Given the description of an element on the screen output the (x, y) to click on. 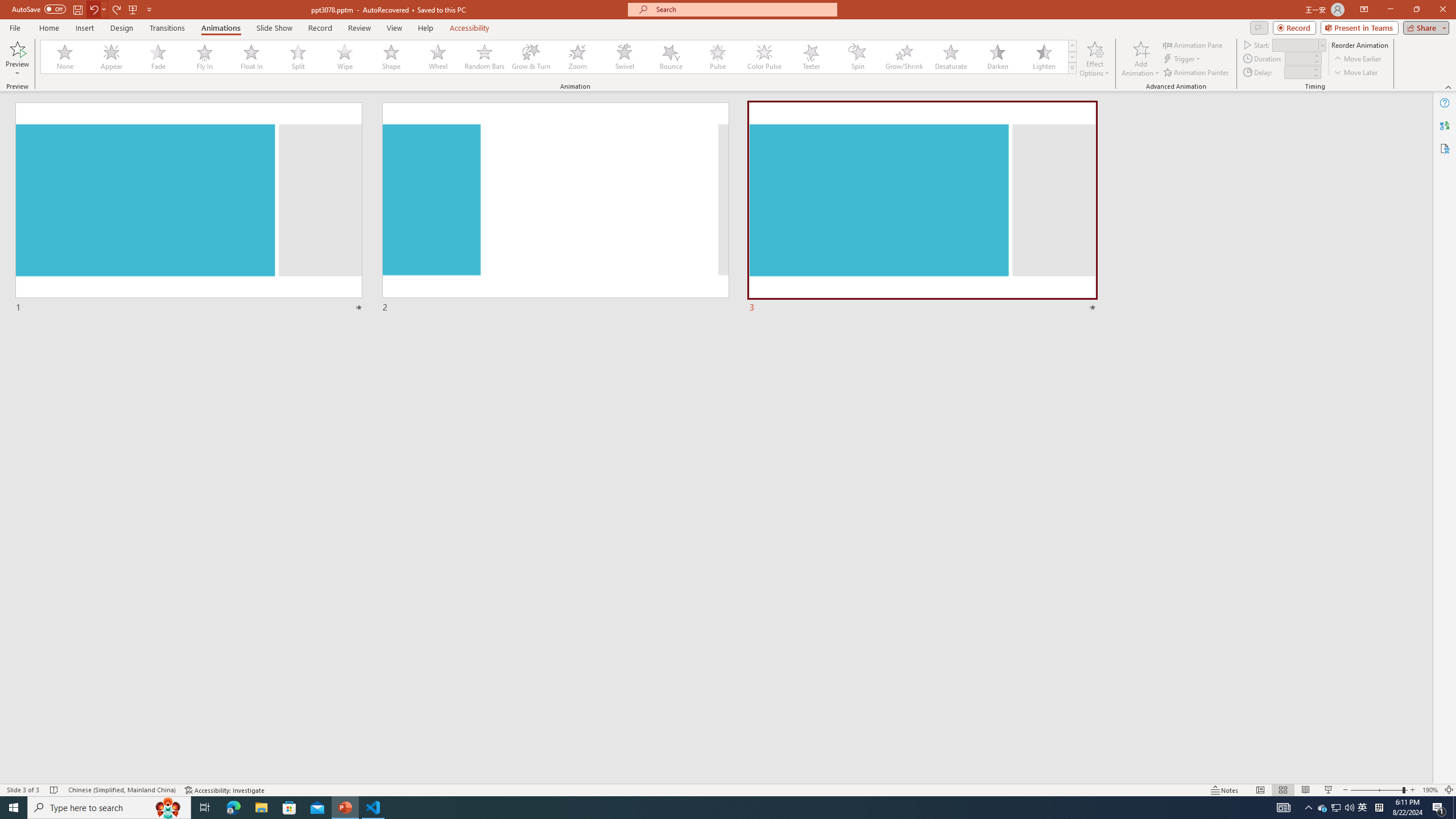
Random Bars (484, 56)
